Given the description of an element on the screen output the (x, y) to click on. 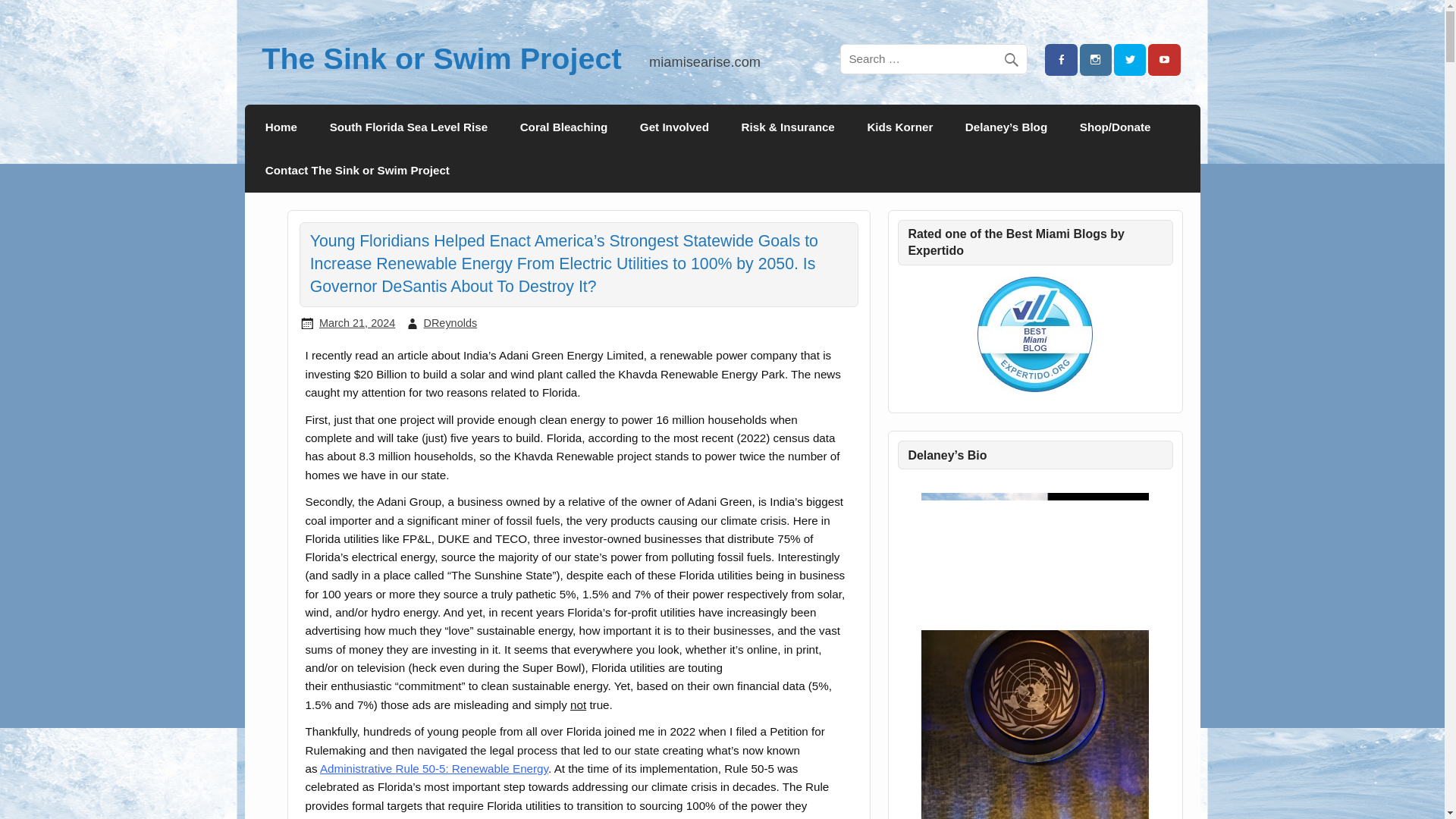
Get Involved (674, 126)
8:18 pm (356, 322)
Home (281, 126)
View all posts by DReynolds (450, 322)
Coral Bleaching (563, 126)
South Florida Sea Level Rise (408, 126)
Kids Korner (899, 126)
DReynolds (450, 322)
Contact The Sink or Swim Project (356, 170)
March 21, 2024 (356, 322)
